Given the description of an element on the screen output the (x, y) to click on. 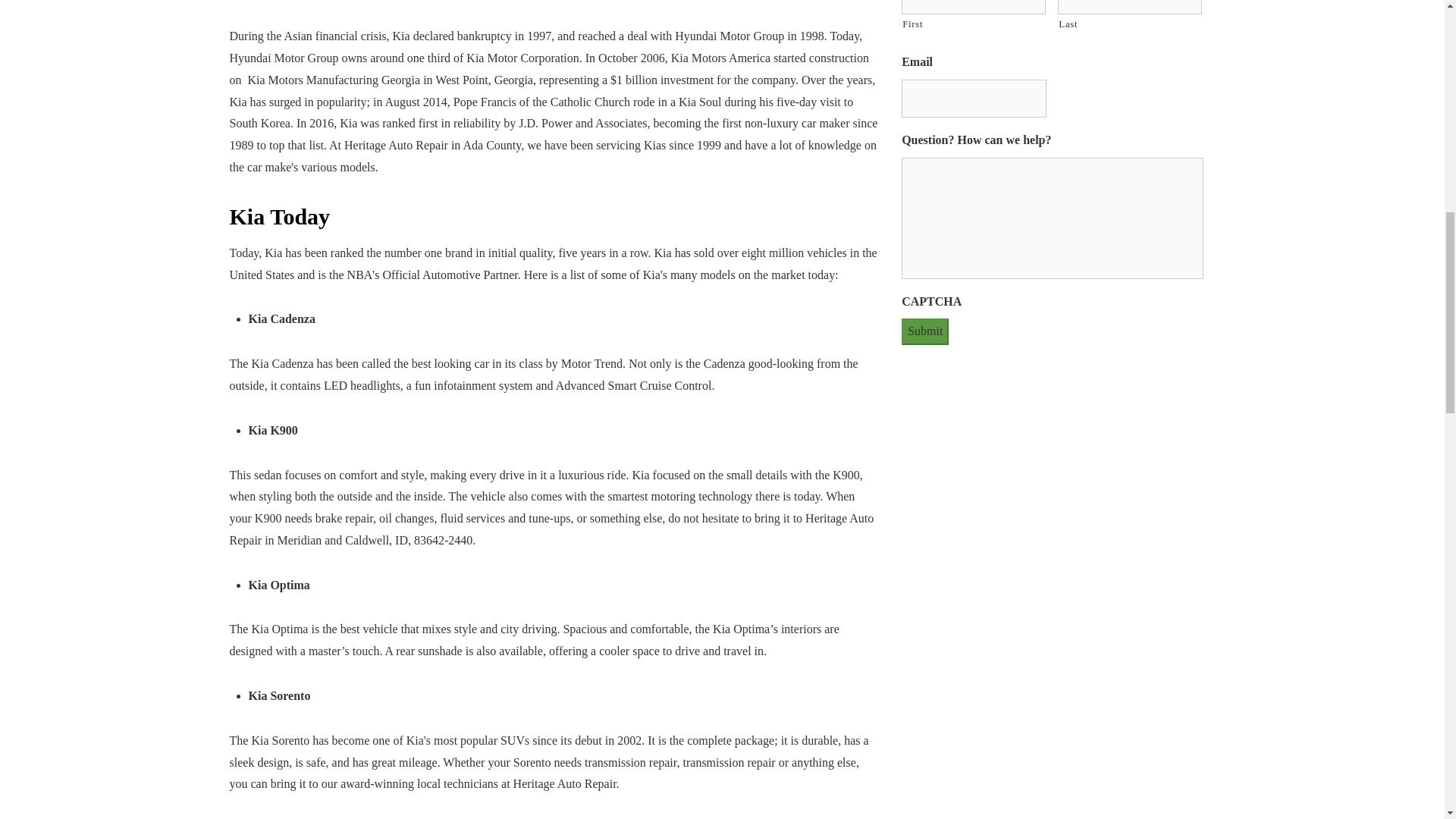
Submit (925, 331)
